Given the description of an element on the screen output the (x, y) to click on. 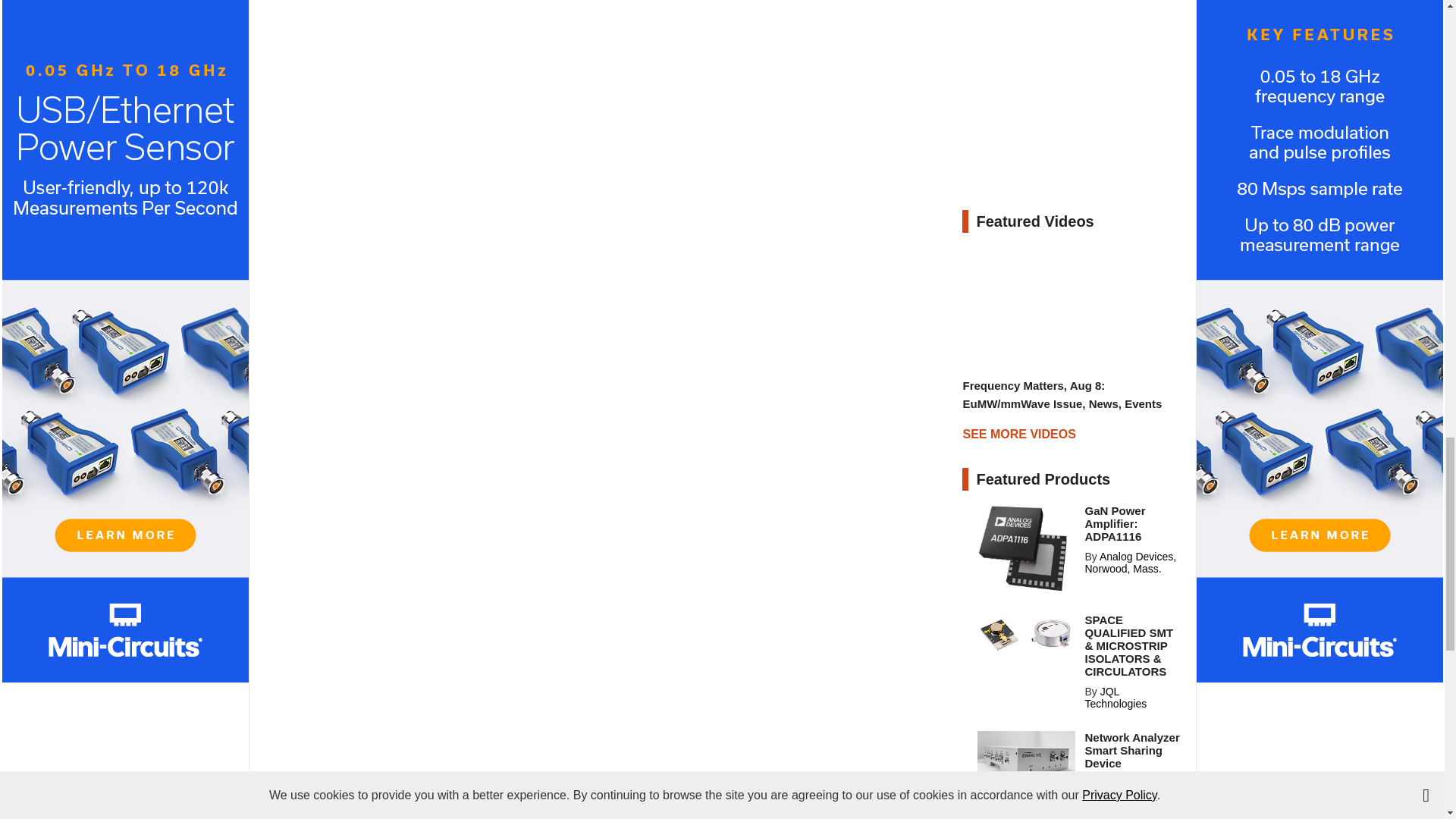
final.jpg (1025, 634)
Aaronia-4-22-24wjt.jpg (1025, 811)
3rd party ad content (1075, 99)
ADPA1116 200.jpg (1025, 547)
2.Product image.jpg (1025, 759)
